Given the description of an element on the screen output the (x, y) to click on. 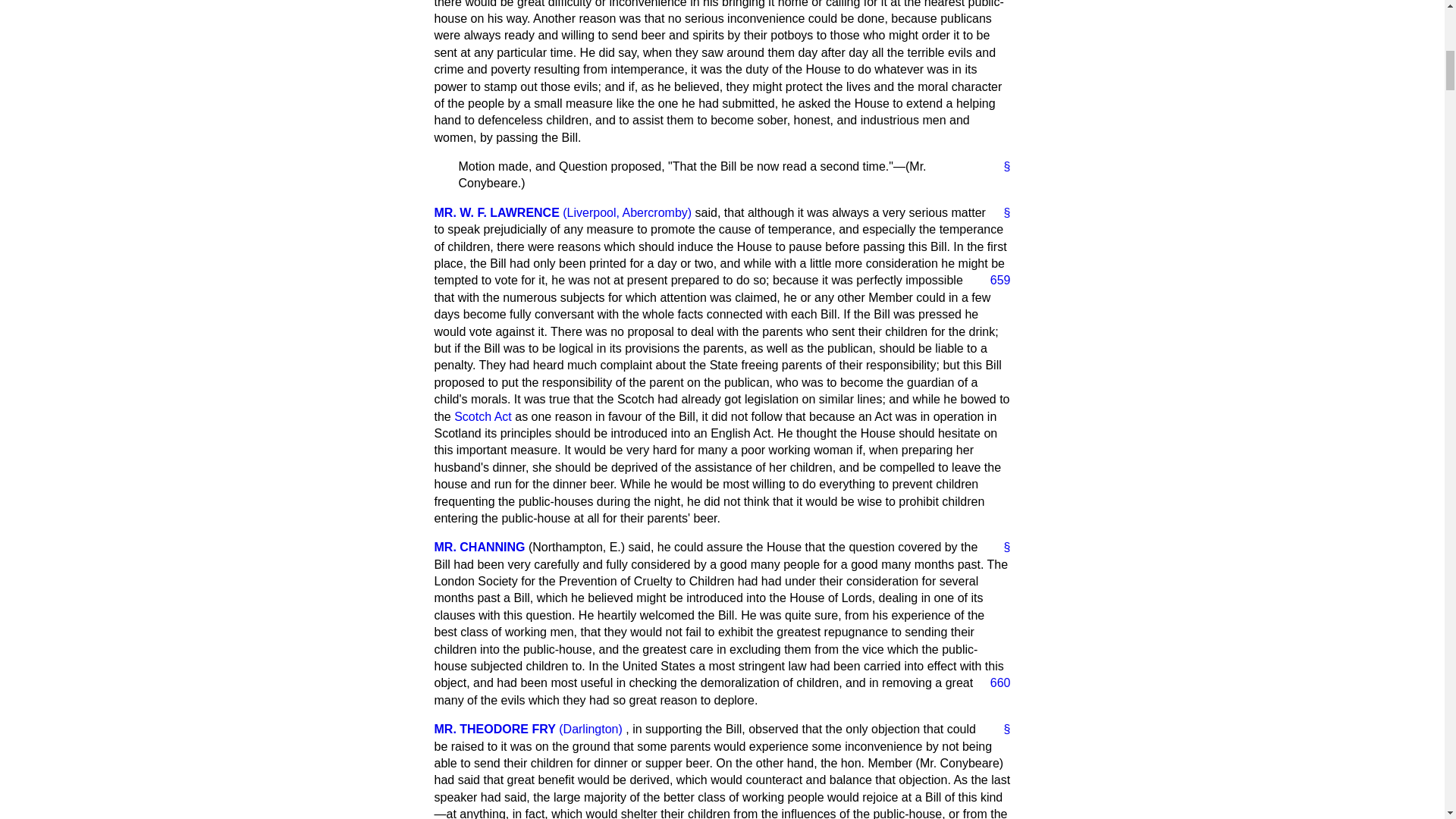
Mr Francis Channing (478, 546)
Mr William Lawrence (496, 212)
Link to this speech by Mr Francis Channing (1000, 547)
MR. CHANNING (478, 546)
Darlington (591, 728)
Link to this contribution (1000, 166)
659 (994, 280)
Liverpool Abercromby (626, 212)
Link to this speech by Sir Theodore Fry (1000, 729)
Sir Theodore Fry (493, 728)
